Given the description of an element on the screen output the (x, y) to click on. 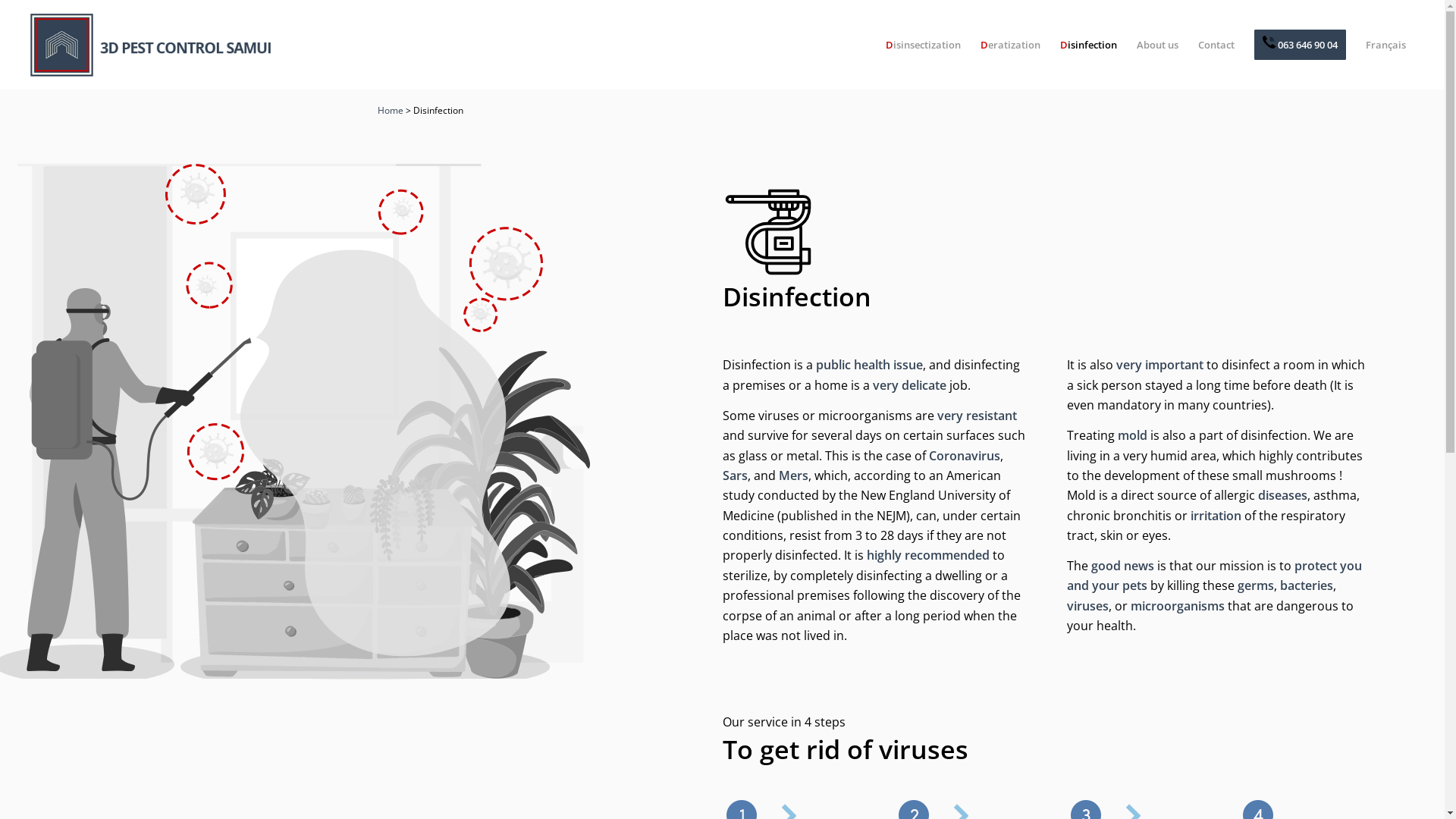
Disinsectization Element type: text (922, 44)
Deratization Element type: text (1010, 44)
Home Element type: text (390, 109)
Contact Element type: text (1216, 44)
063 646 90 04 Element type: text (1299, 44)
Disinfection Element type: text (1088, 44)
About us Element type: text (1157, 44)
